Given the description of an element on the screen output the (x, y) to click on. 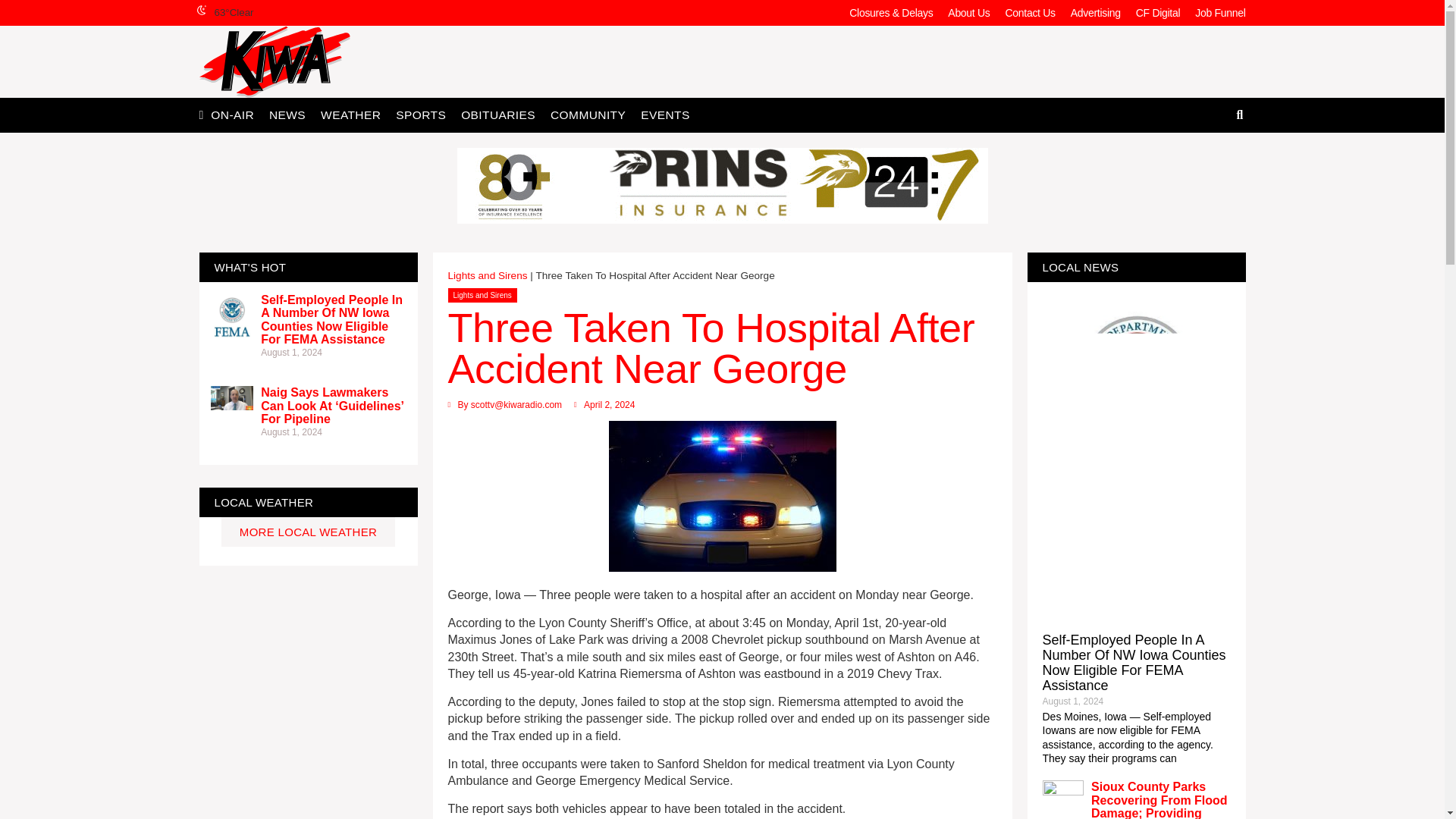
OBITUARIES (497, 114)
Job Funnel (1220, 12)
Advertising (1095, 12)
ON-AIR (232, 114)
SPORTS (420, 114)
Contact Us (1029, 12)
EVENTS (665, 114)
CF Digital (1158, 12)
COMMUNITY (588, 114)
WEATHER (350, 114)
NEWS (287, 114)
About Us (968, 12)
